Given the description of an element on the screen output the (x, y) to click on. 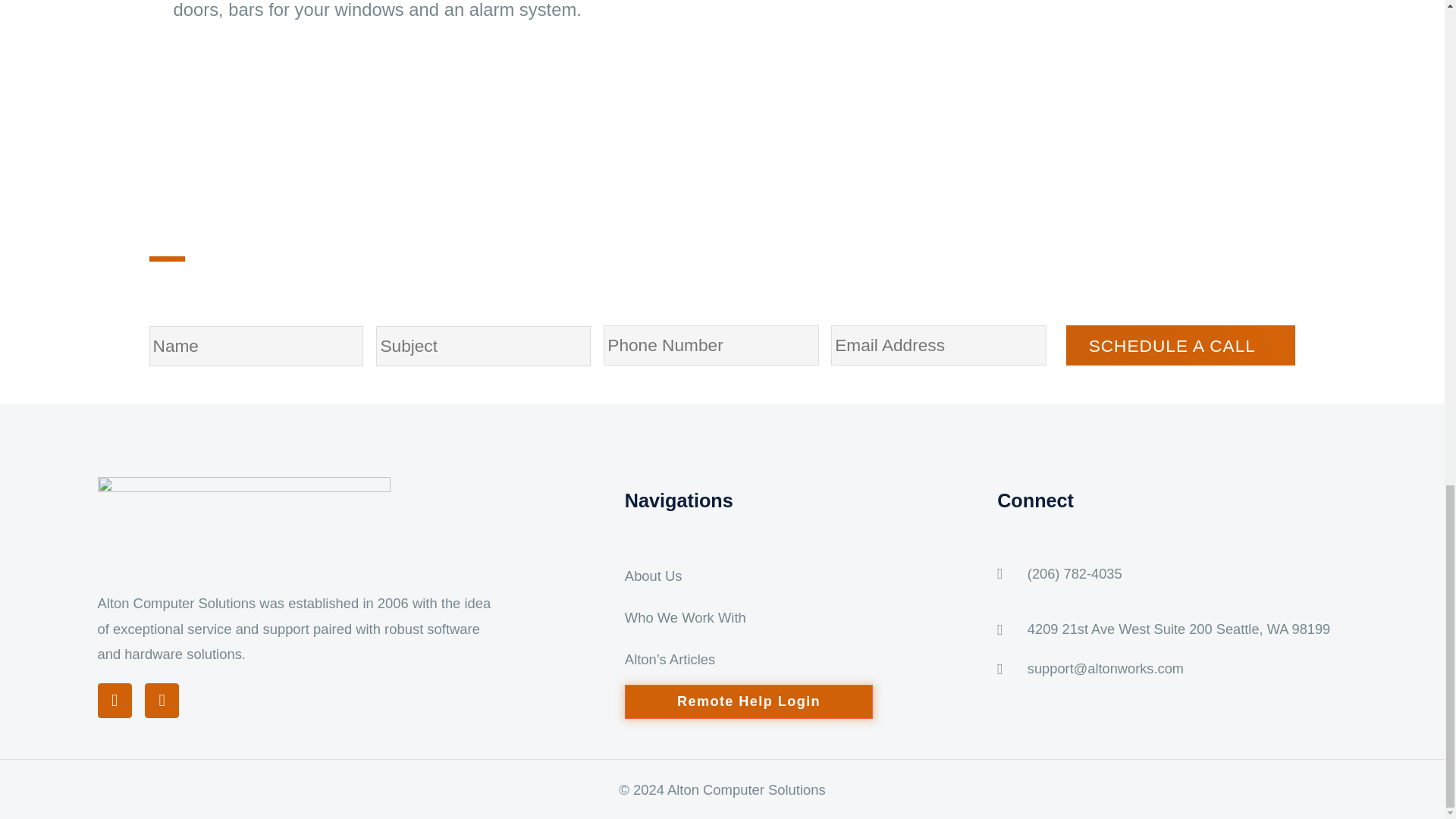
Schedule A Call (1180, 345)
Remote Help Login (748, 701)
Who We Work With (684, 617)
Schedule A Call (1180, 345)
About Us (653, 575)
